Given the description of an element on the screen output the (x, y) to click on. 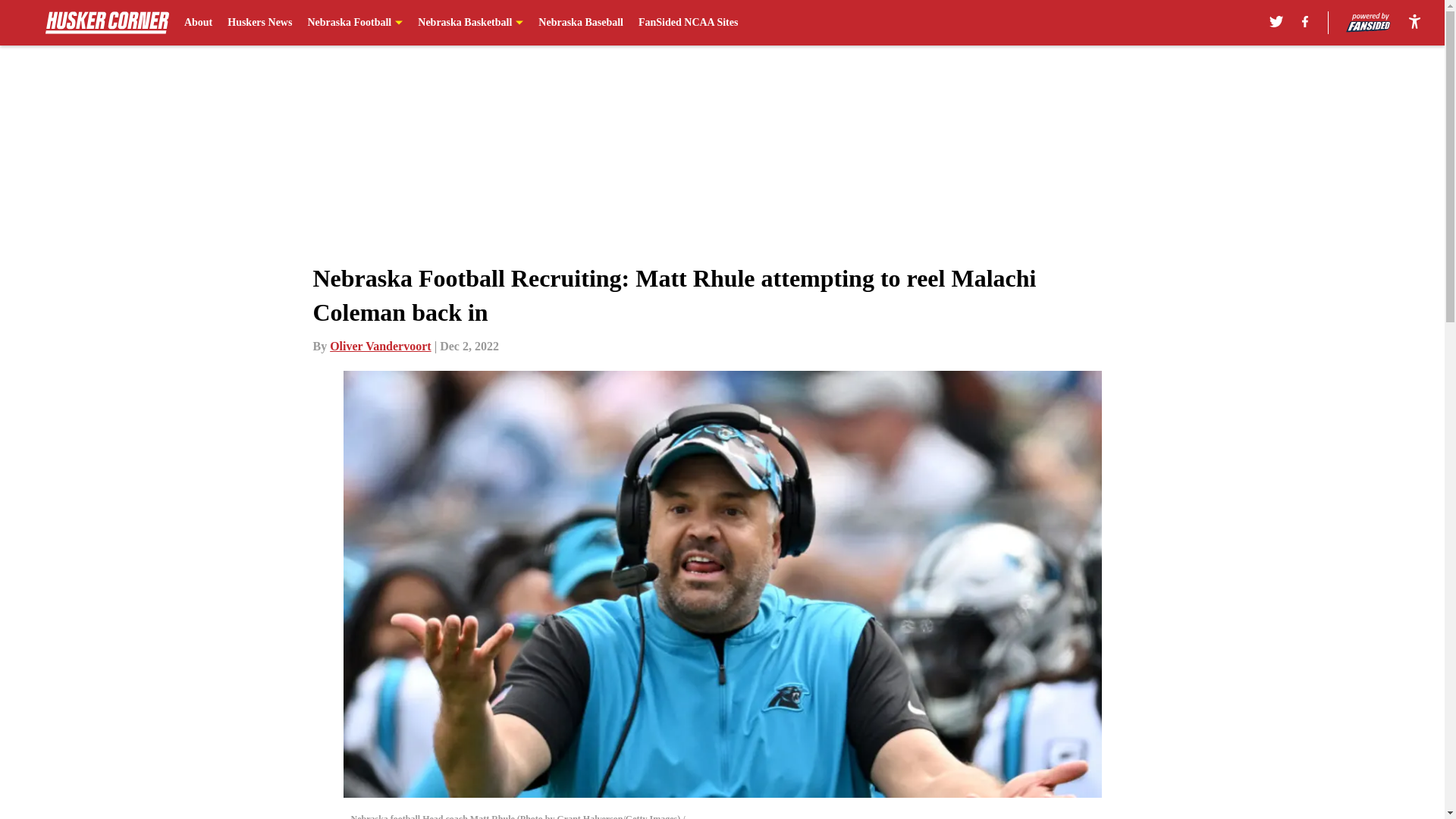
FanSided NCAA Sites (688, 22)
Nebraska Baseball (580, 22)
About (198, 22)
Huskers News (259, 22)
Oliver Vandervoort (380, 345)
